Given the description of an element on the screen output the (x, y) to click on. 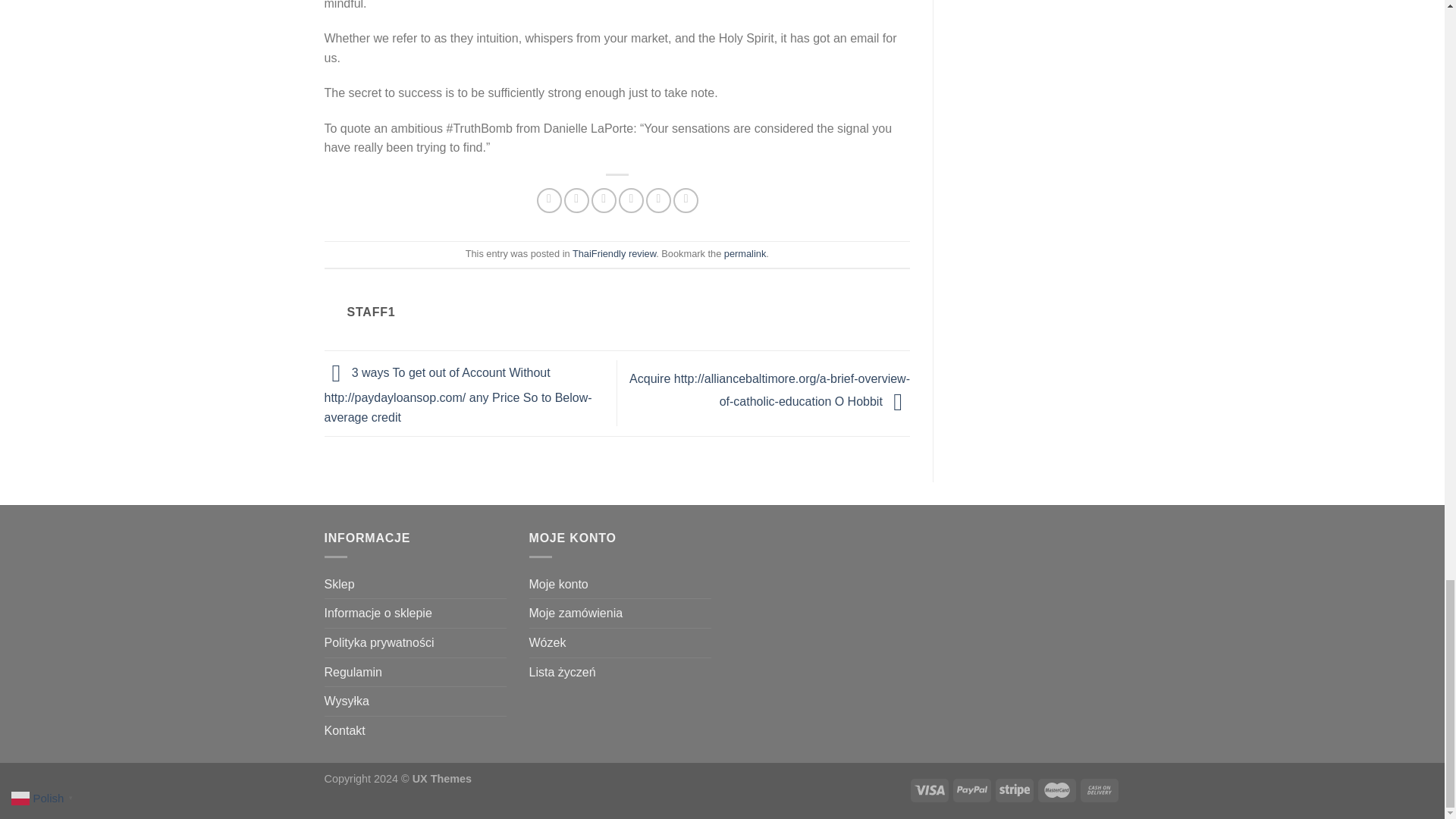
permalink (744, 253)
ThaiFriendly review (614, 253)
